Given the description of an element on the screen output the (x, y) to click on. 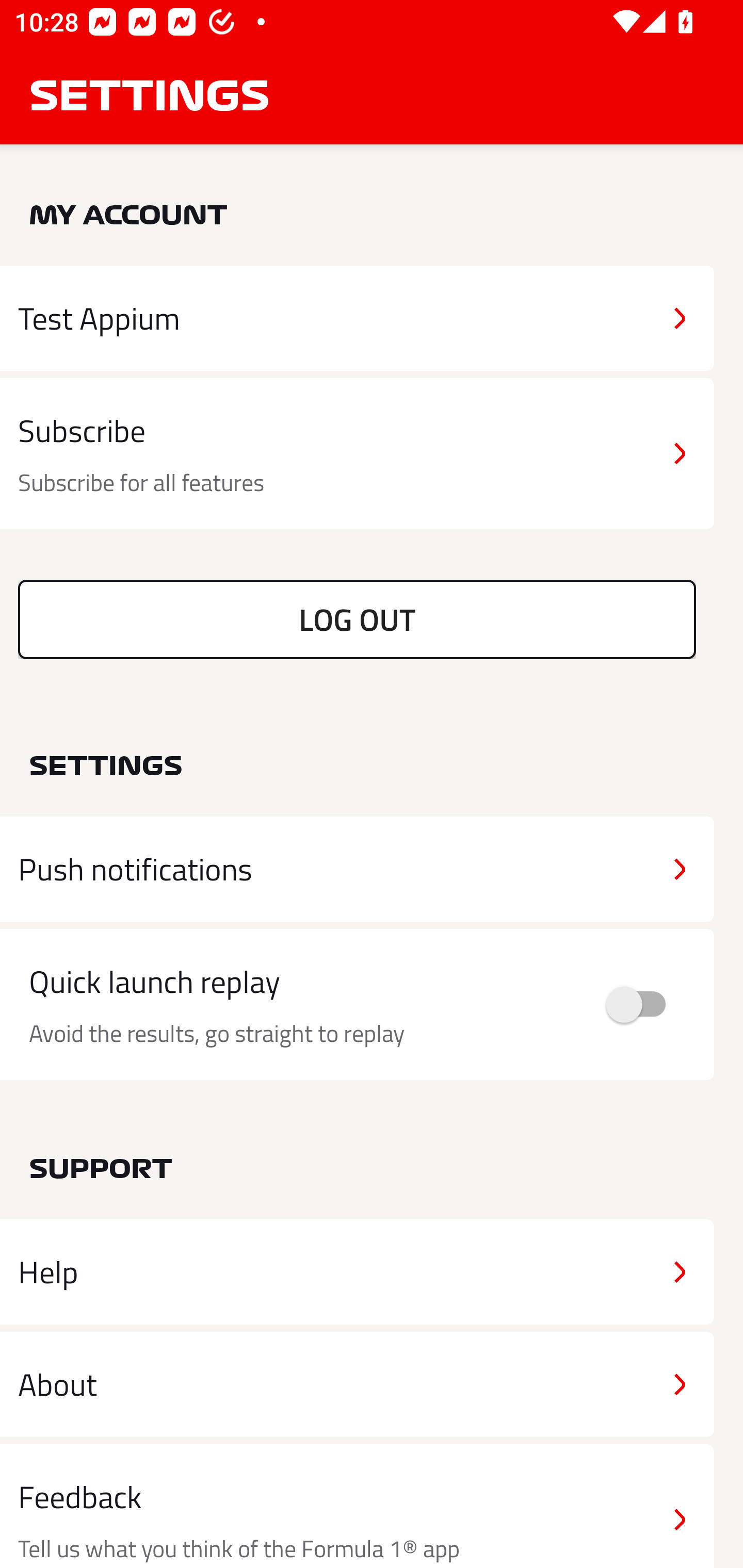
Test Appium (357, 317)
Subscribe Subscribe for all features (357, 453)
LOG OUT (356, 619)
Push notifications (357, 868)
Help (357, 1271)
About (357, 1383)
